Given the description of an element on the screen output the (x, y) to click on. 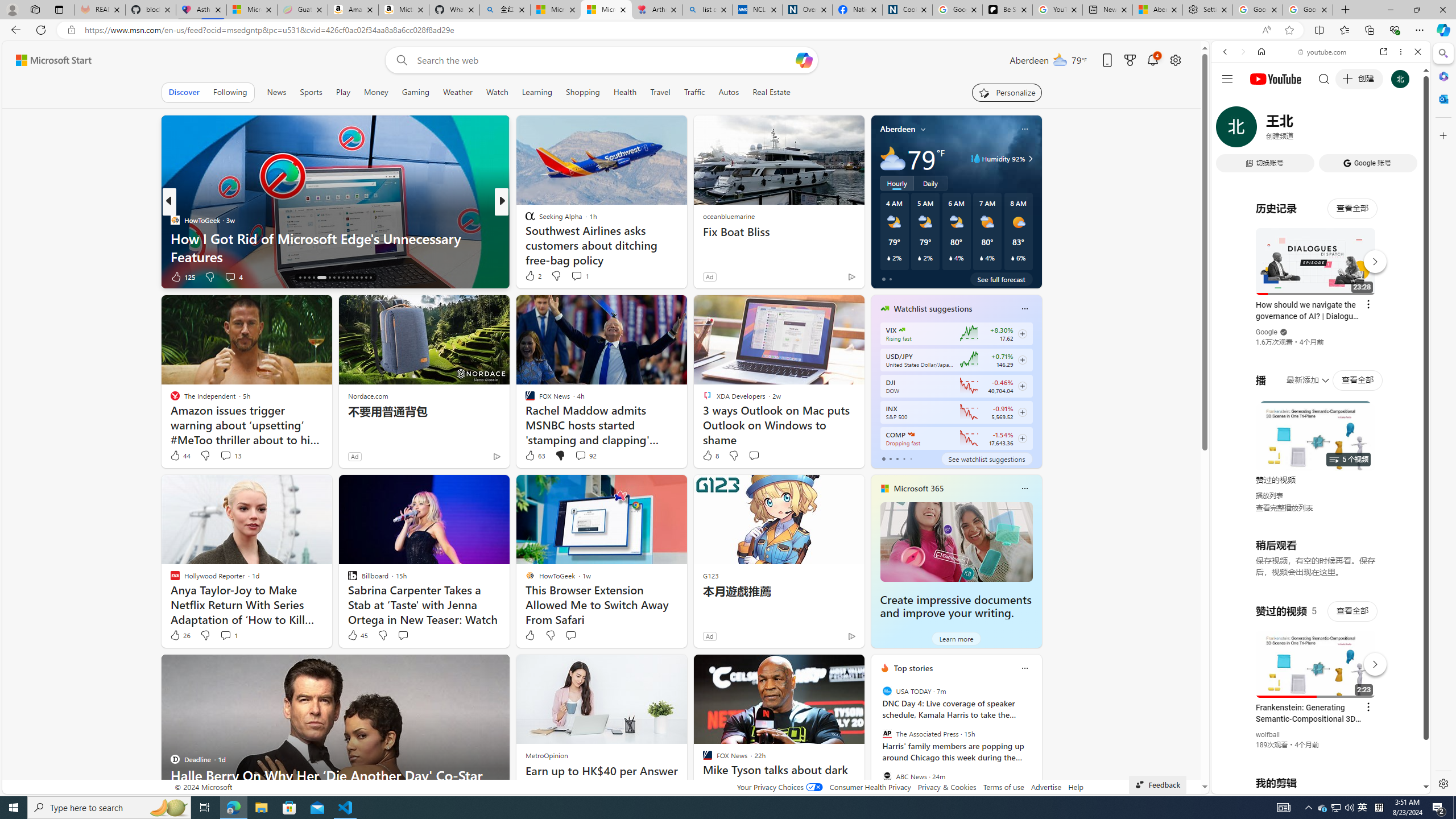
AutomationID: tab-21 (329, 277)
AutomationID: tab-20 (321, 277)
tab-4 (910, 458)
